Given the description of an element on the screen output the (x, y) to click on. 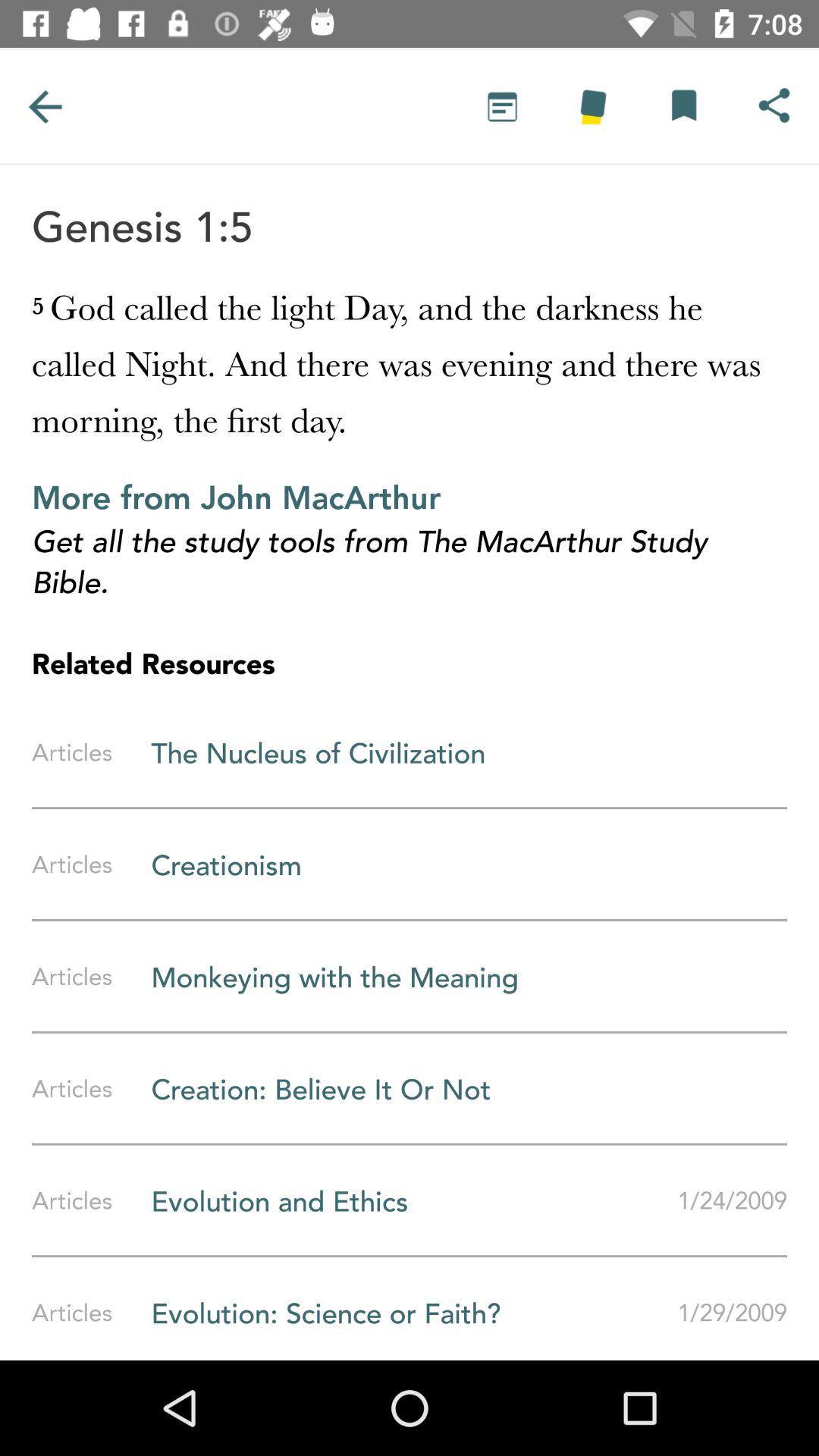
highlight passage (592, 106)
